Given the description of an element on the screen output the (x, y) to click on. 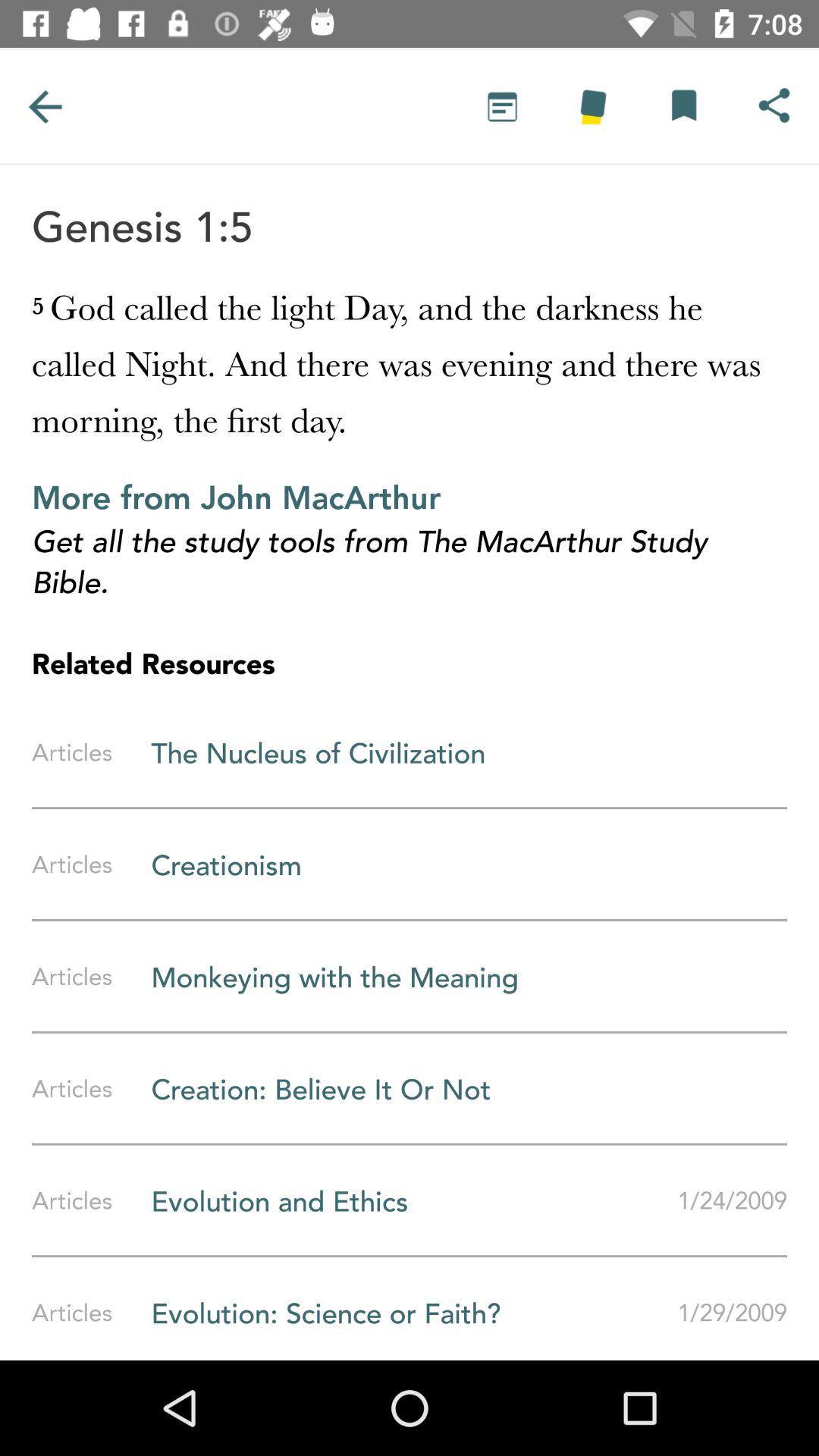
highlight passage (592, 106)
